Given the description of an element on the screen output the (x, y) to click on. 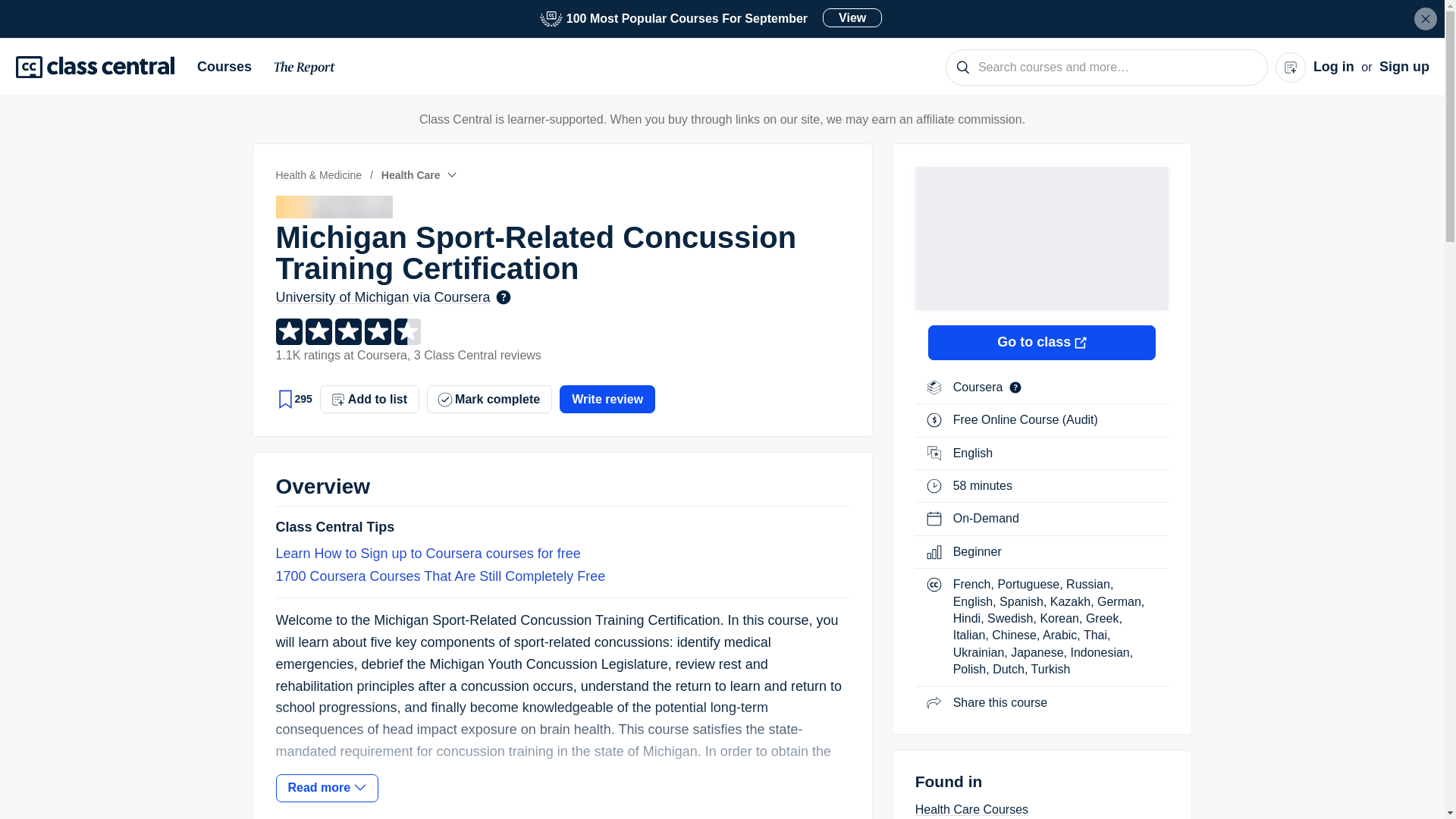
Courses (711, 18)
The Report (229, 66)
Close (304, 69)
List of Coursera MOOCs (1425, 18)
